Given the description of an element on the screen output the (x, y) to click on. 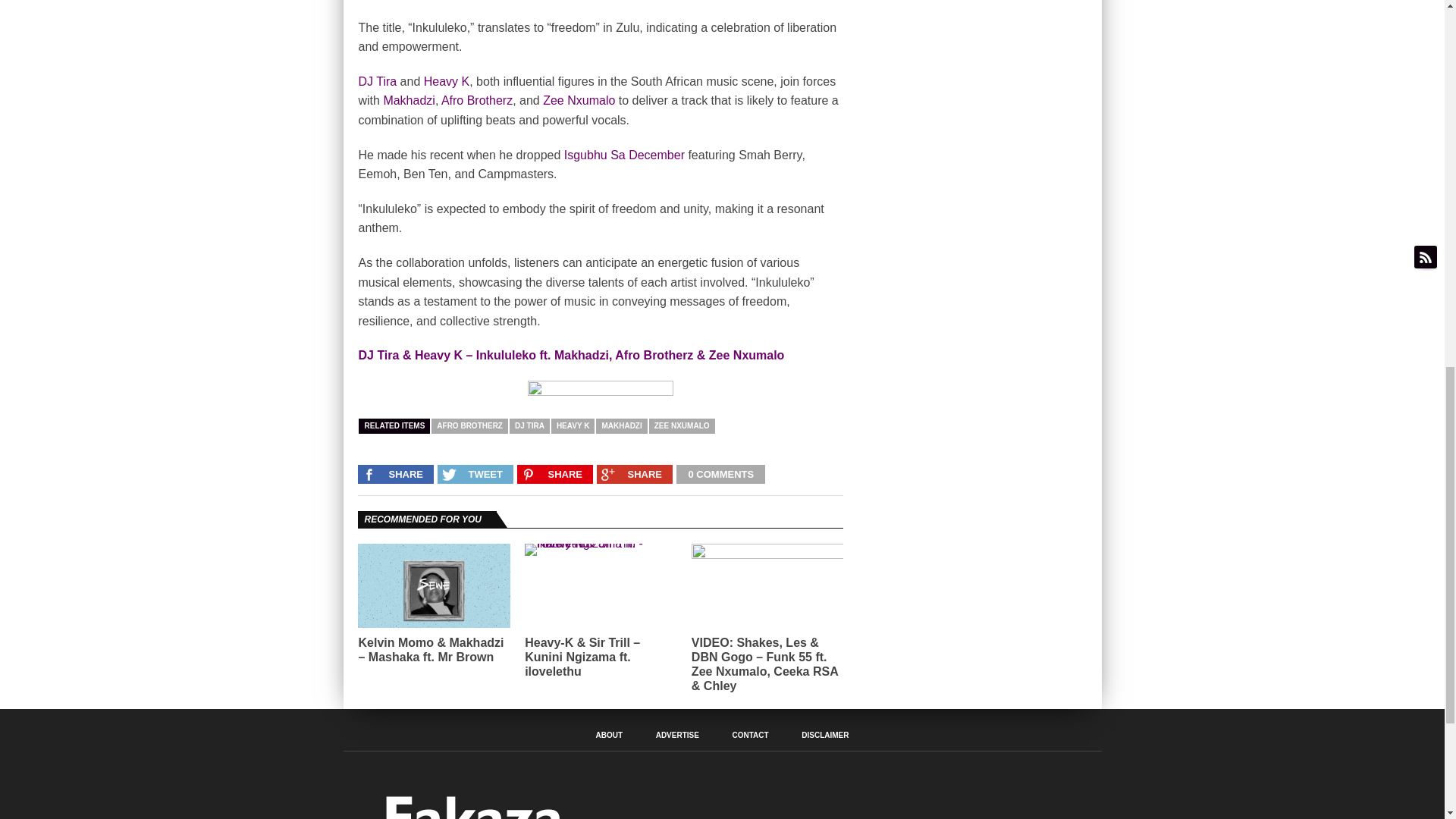
Isgubhu Sa December (624, 154)
MAKHADZI (620, 426)
Zee Nxumalo (578, 100)
DJ TIRA (529, 426)
Heavy K (445, 81)
DJ Tira (377, 81)
AFRO BROTHERZ (469, 426)
Afro Brotherz (476, 100)
DJ Tira (377, 81)
Makhadzi (407, 100)
